Given the description of an element on the screen output the (x, y) to click on. 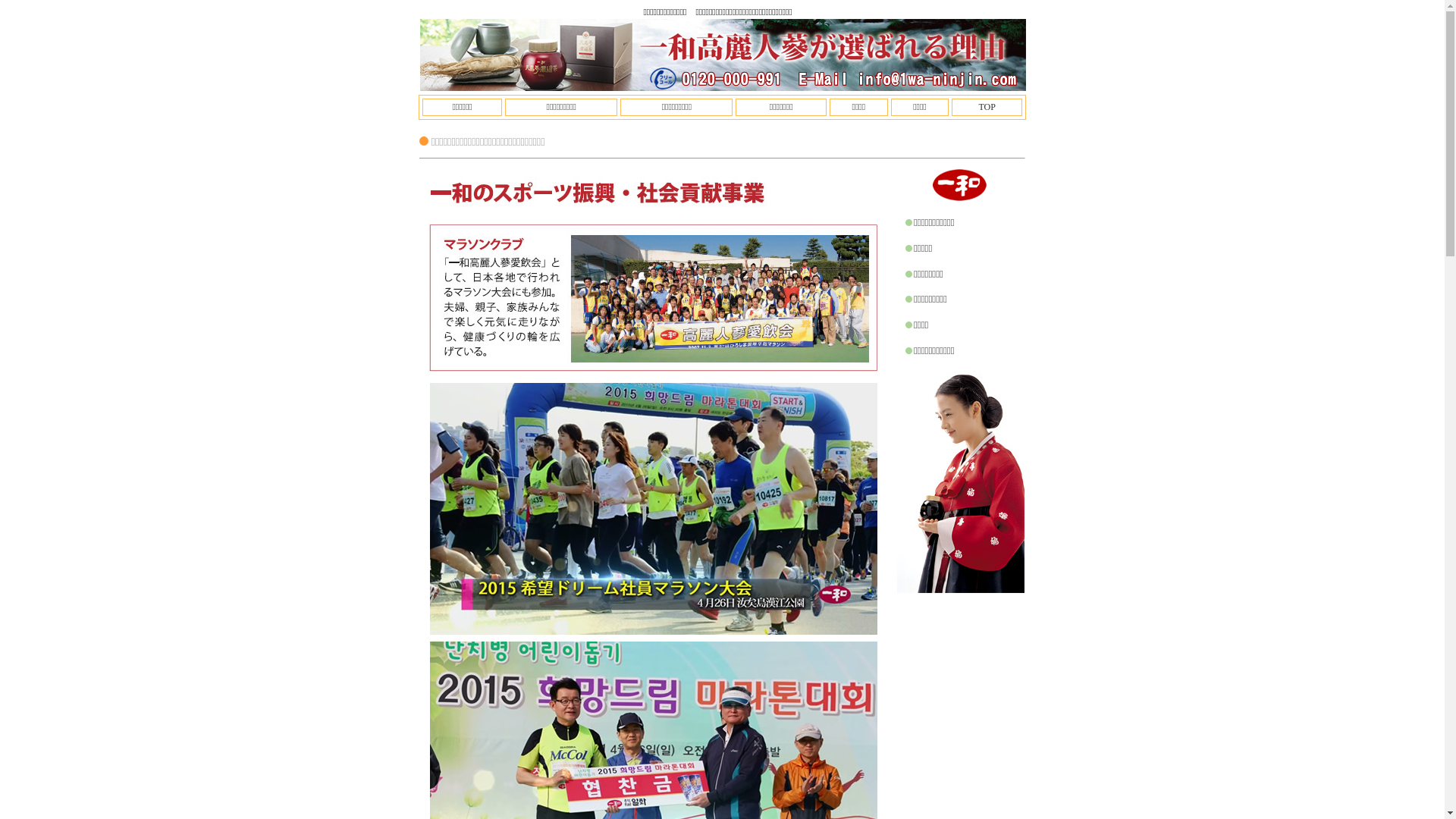
TOP Element type: text (986, 106)
